Given the description of an element on the screen output the (x, y) to click on. 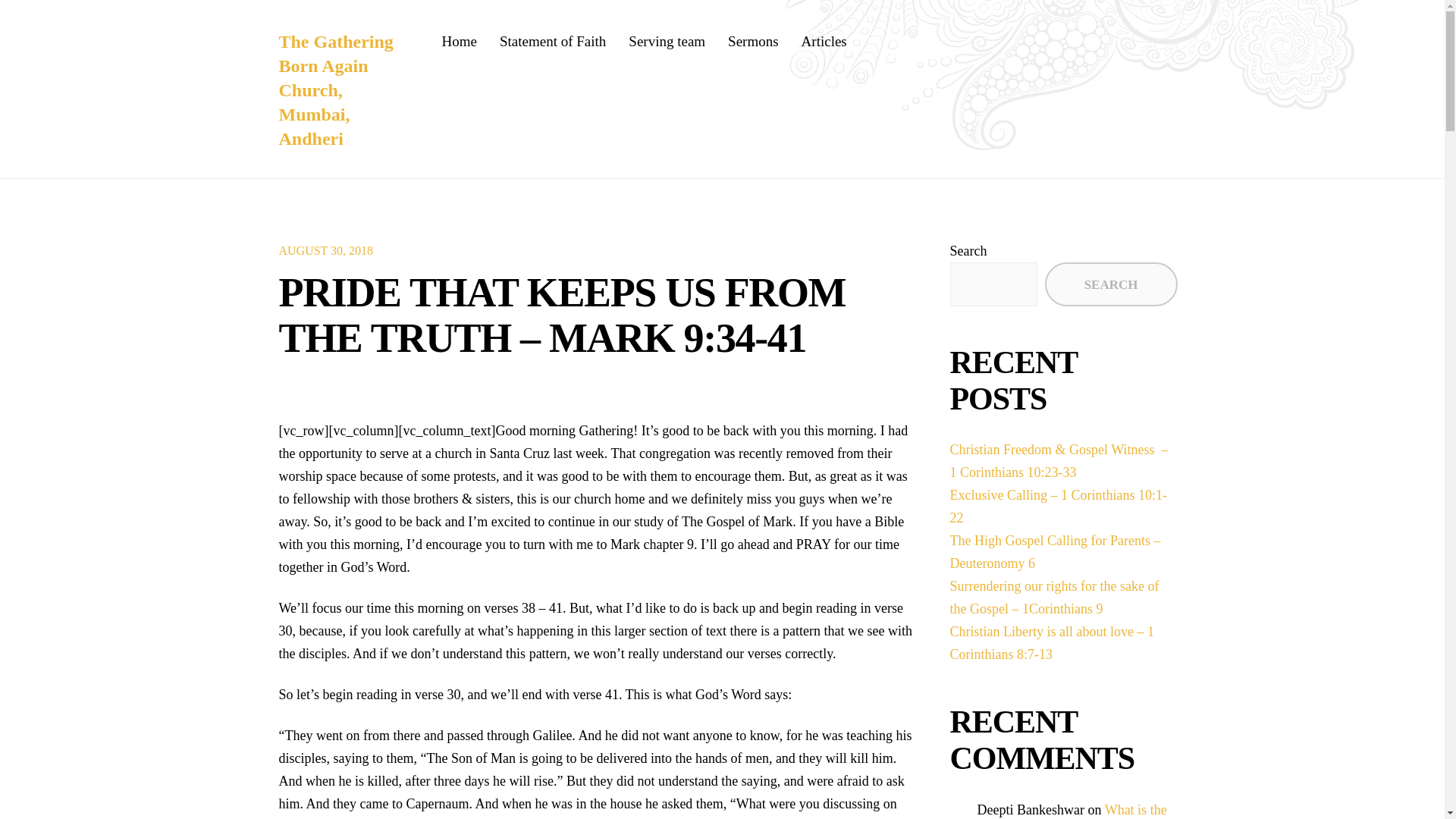
Articles (824, 41)
Sermons (753, 41)
What is the church? (1071, 810)
Serving team (666, 41)
Statement of Faith (552, 41)
Home (458, 41)
The Gathering Born Again Church, Mumbai, Andheri (336, 89)
SEARCH (1111, 284)
